Given the description of an element on the screen output the (x, y) to click on. 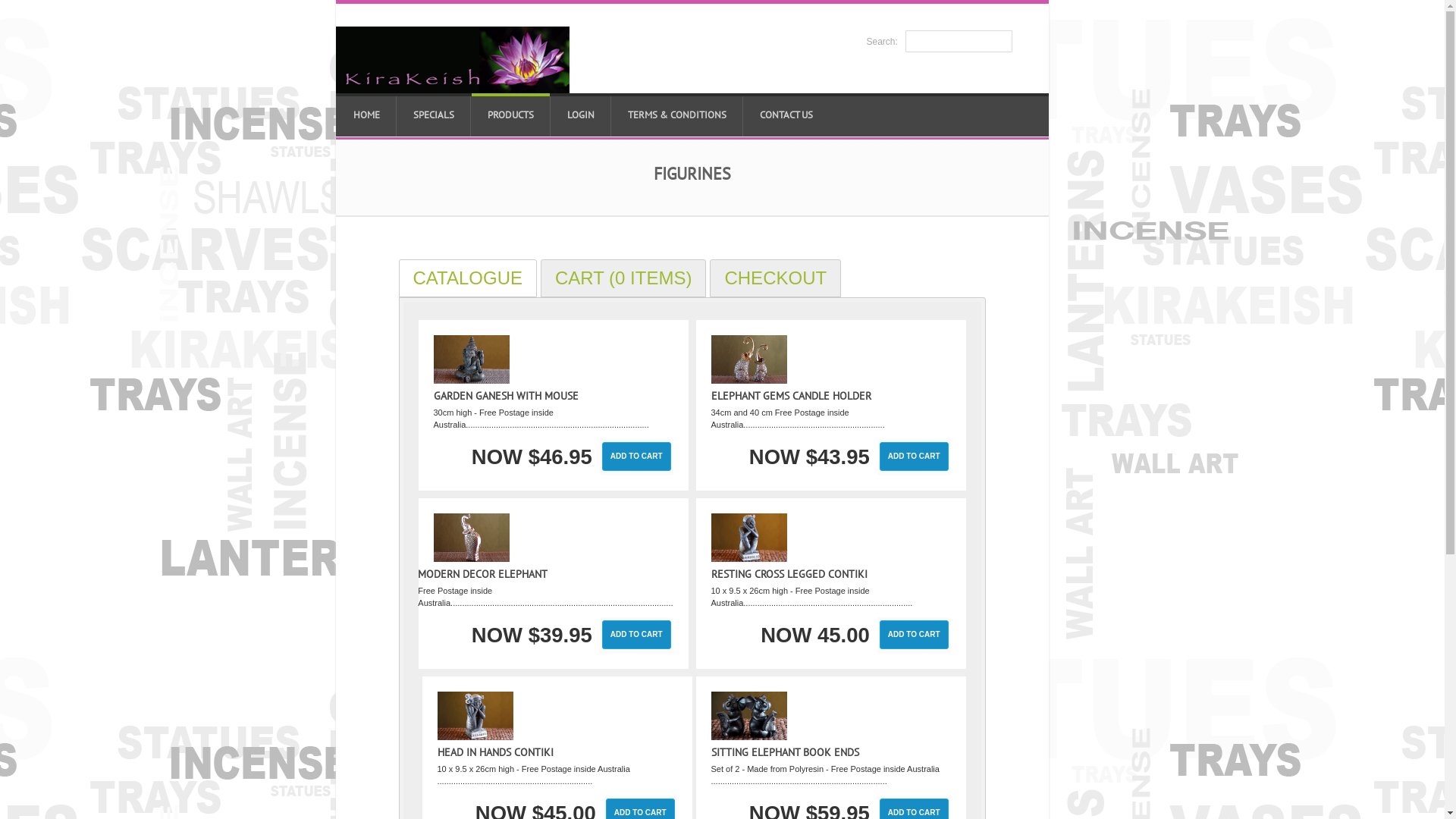
SPECIALS Element type: text (433, 115)
CATALOGUE Element type: text (467, 278)
CONTACT US Element type: text (785, 115)
ADD TO CART Element type: text (636, 635)
CHECKOUT Element type: text (774, 278)
ADD TO CART Element type: text (913, 457)
ADD TO CART Element type: text (636, 457)
HOME Element type: text (365, 115)
CART (0 ITEMS) Element type: text (623, 278)
LOGIN Element type: text (579, 115)
ADD TO CART Element type: text (913, 635)
PRODUCTS Element type: text (510, 115)
TERMS & CONDITIONS Element type: text (676, 115)
